Given the description of an element on the screen output the (x, y) to click on. 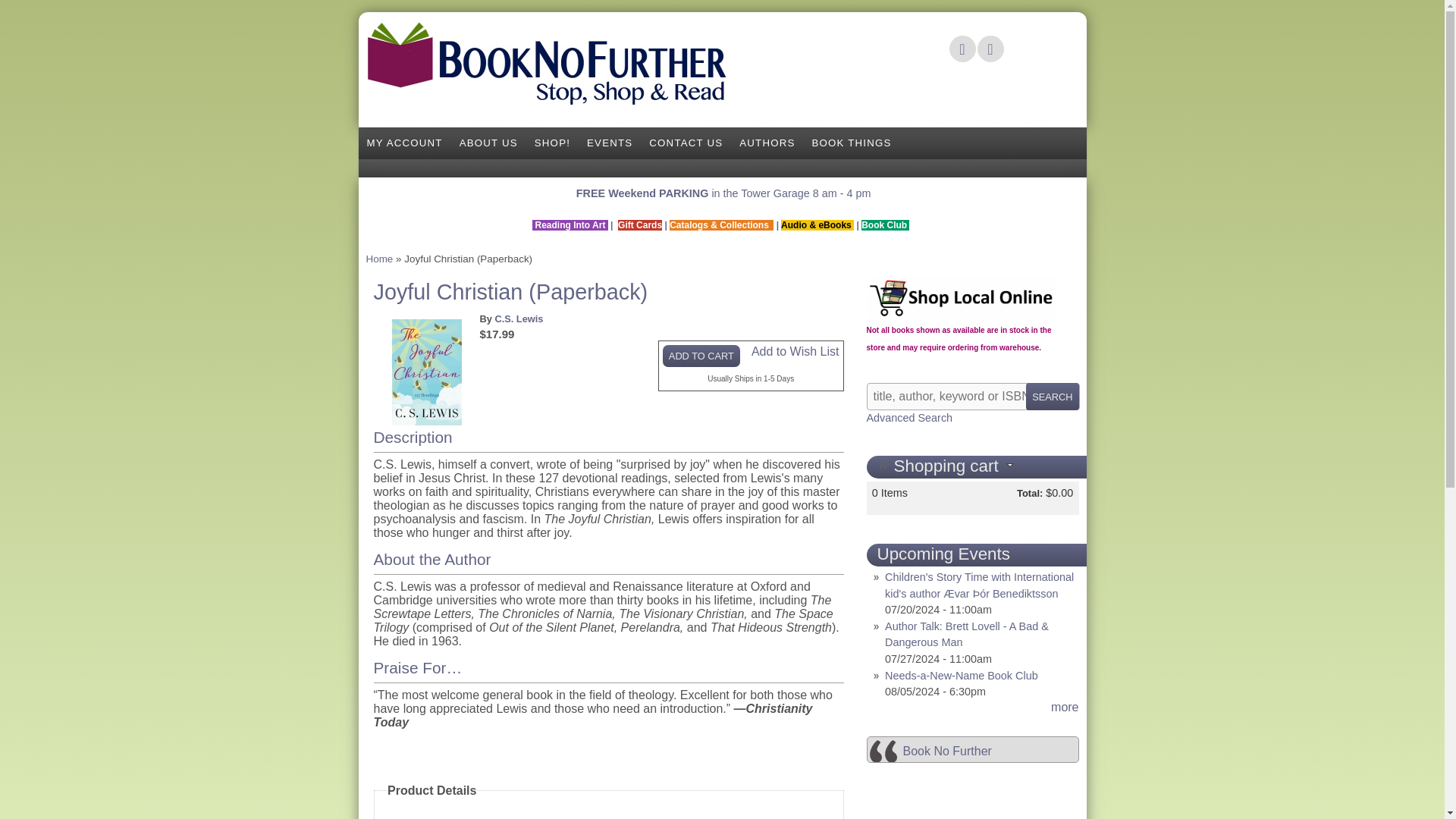
MY ACCOUNT (403, 142)
BOOK THINGS (851, 142)
ABOUT US (488, 142)
Search (1052, 396)
CONTACT US (685, 142)
Add to Cart (700, 355)
Enter the terms you wish to search for. (972, 396)
View your shopping cart. (882, 463)
AUTHORS (766, 142)
EVENTS (609, 142)
Programs, services, ideas and lists (851, 142)
SHOP! (551, 142)
